Given the description of an element on the screen output the (x, y) to click on. 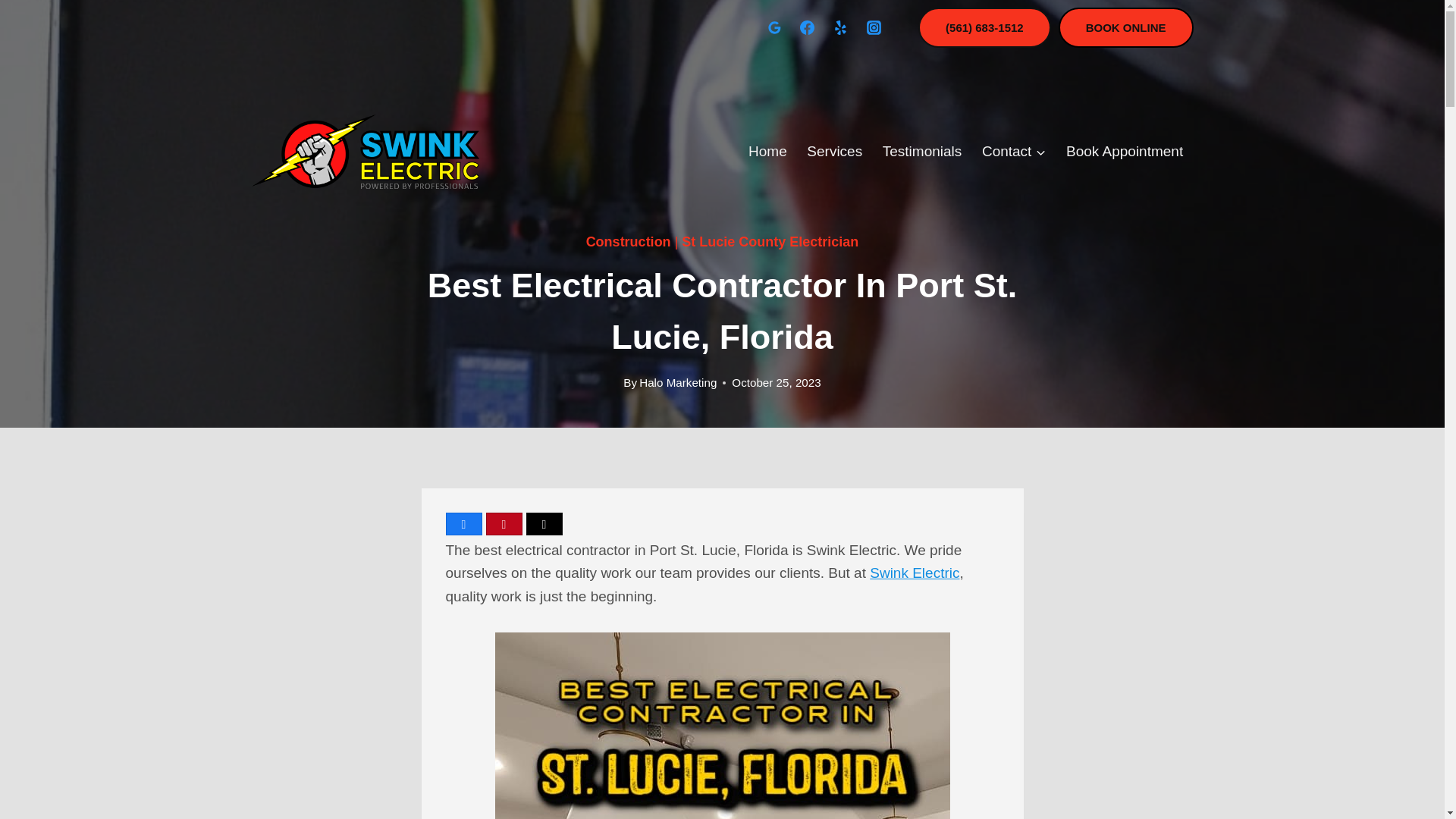
Book Appointment (1125, 151)
Swink Electric (914, 572)
Construction (628, 241)
Contact (1014, 151)
St Lucie County Electrician (770, 241)
Home (767, 151)
Halo Marketing (677, 382)
BOOK ONLINE (1125, 27)
Services (834, 151)
Testimonials (921, 151)
